Given the description of an element on the screen output the (x, y) to click on. 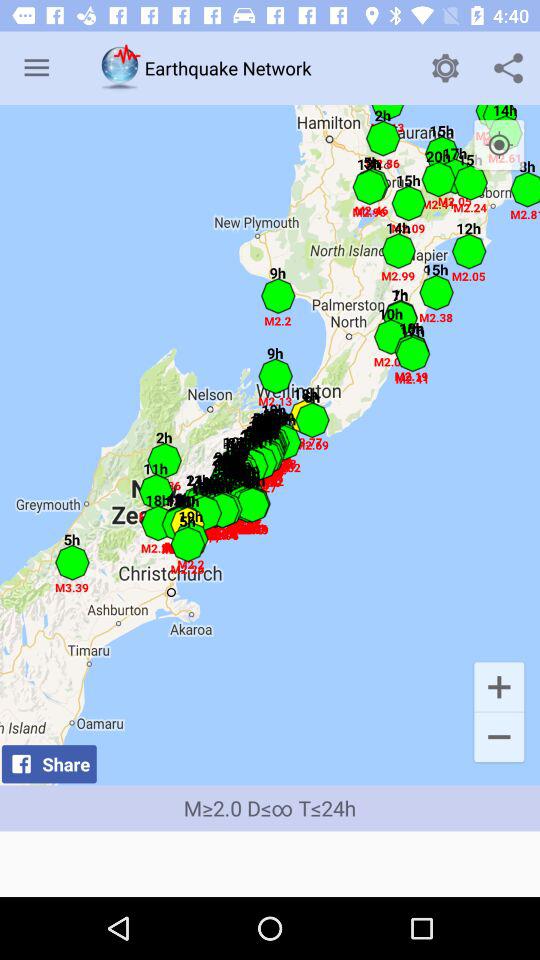
turn off icon below m 2 0 icon (270, 863)
